Given the description of an element on the screen output the (x, y) to click on. 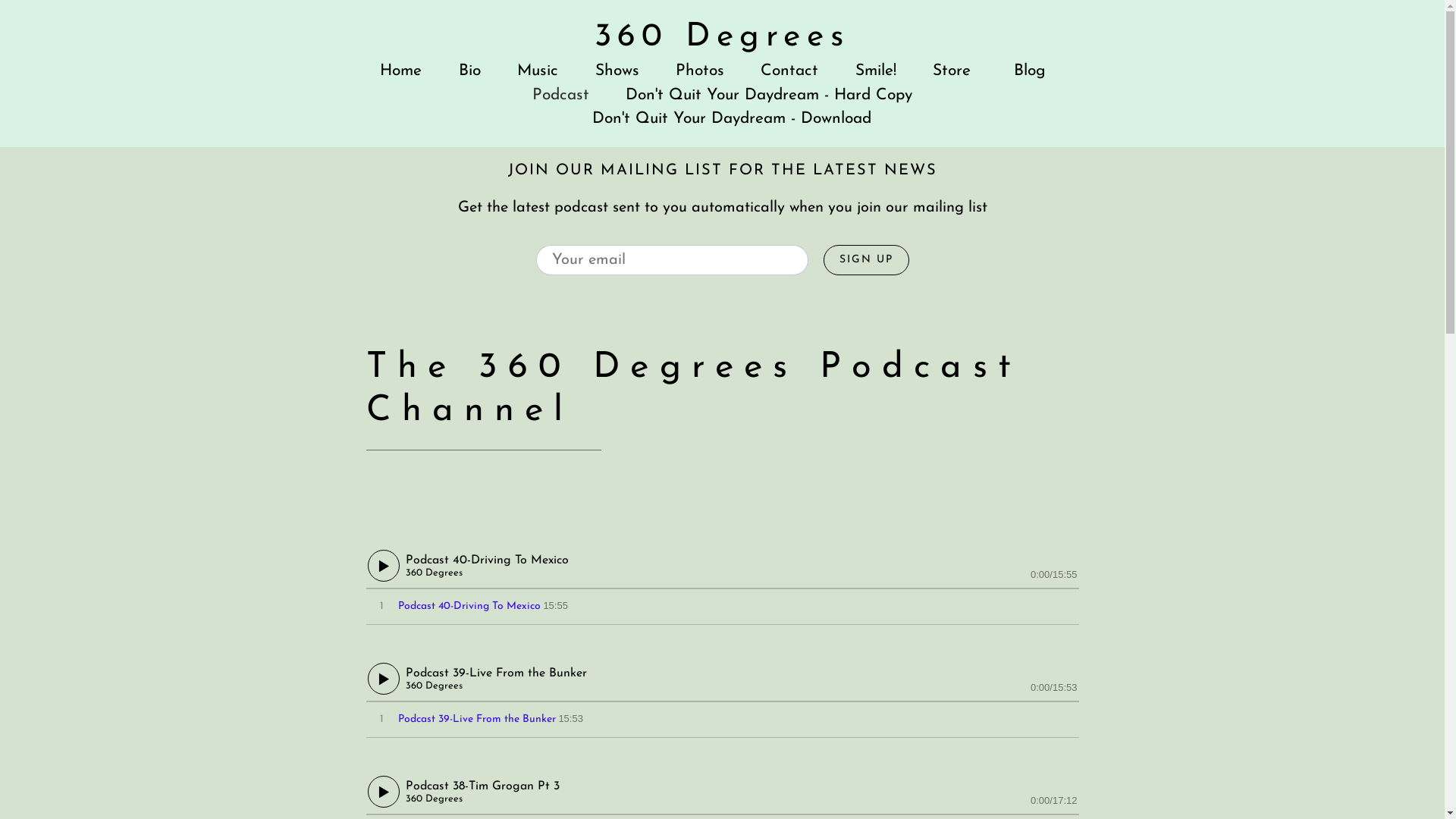
Play Element type: hover (382, 678)
Blog Element type: text (1029, 70)
Bio Element type: text (469, 70)
Shows Element type: text (617, 70)
360 Degrees Element type: text (722, 37)
SIGN UP Element type: text (866, 259)
Podcast 40-Driving To Mexico Element type: text (468, 606)
Podcast 39-Live From the Bunker Element type: text (476, 719)
Home Element type: text (400, 70)
Don't Quit Your Daydream - Download Element type: text (731, 118)
Don't Quit Your Daydream - Hard Copy Element type: text (768, 94)
Store Element type: text (954, 70)
Music Element type: text (537, 70)
Podcast Element type: text (560, 94)
Contact Element type: text (789, 70)
Play Element type: hover (382, 565)
Smile! Element type: text (875, 70)
Photos Element type: text (699, 70)
Play Element type: hover (382, 791)
